Given the description of an element on the screen output the (x, y) to click on. 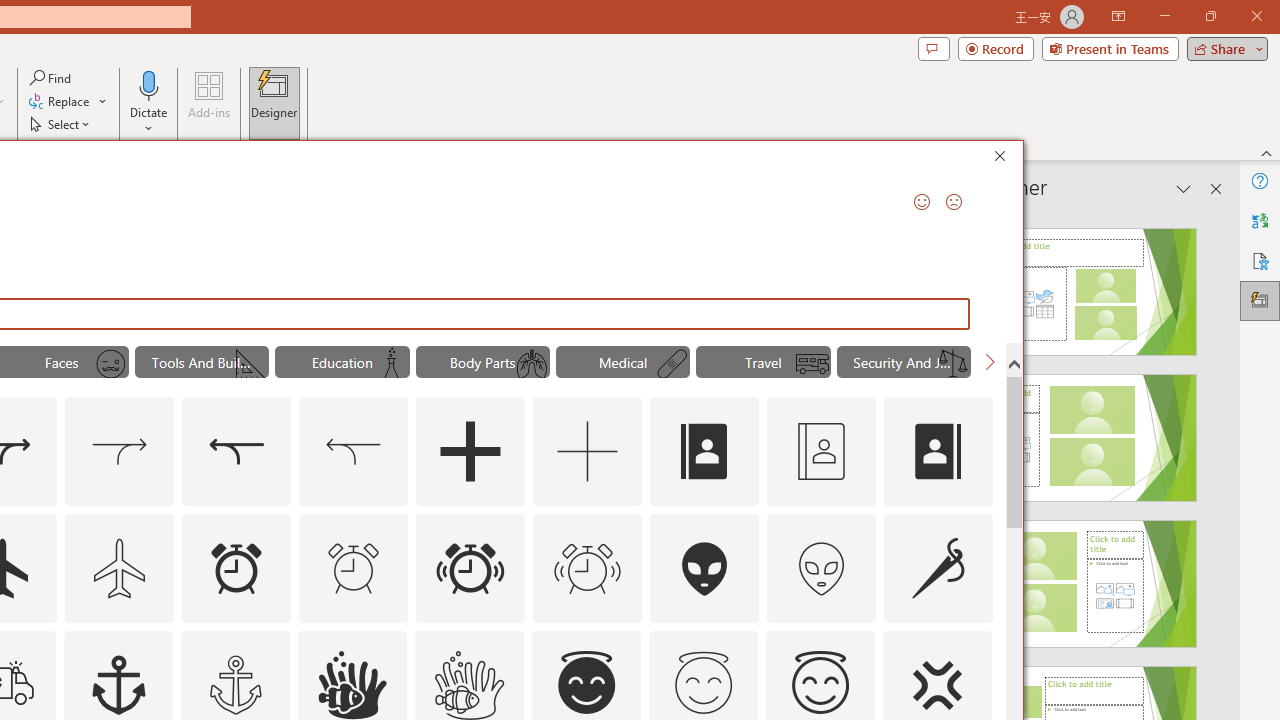
AutomationID: Icons_AddressBook_RTL (938, 452)
AutomationID: Icons_AlienFace_M (821, 568)
"Tools And Building" Icons. (201, 362)
AutomationID: Icons_AlarmClock_M (353, 568)
"Travel" Icons. (763, 362)
AutomationID: Icons (703, 683)
AutomationID: Icons_Flask_M (391, 364)
AutomationID: Icons_AlienFace (705, 568)
AutomationID: _134_Angel_Face_A (586, 682)
AutomationID: Icons_AlarmClock (236, 568)
AutomationID: Icons_AlarmRinging (470, 568)
